Given the description of an element on the screen output the (x, y) to click on. 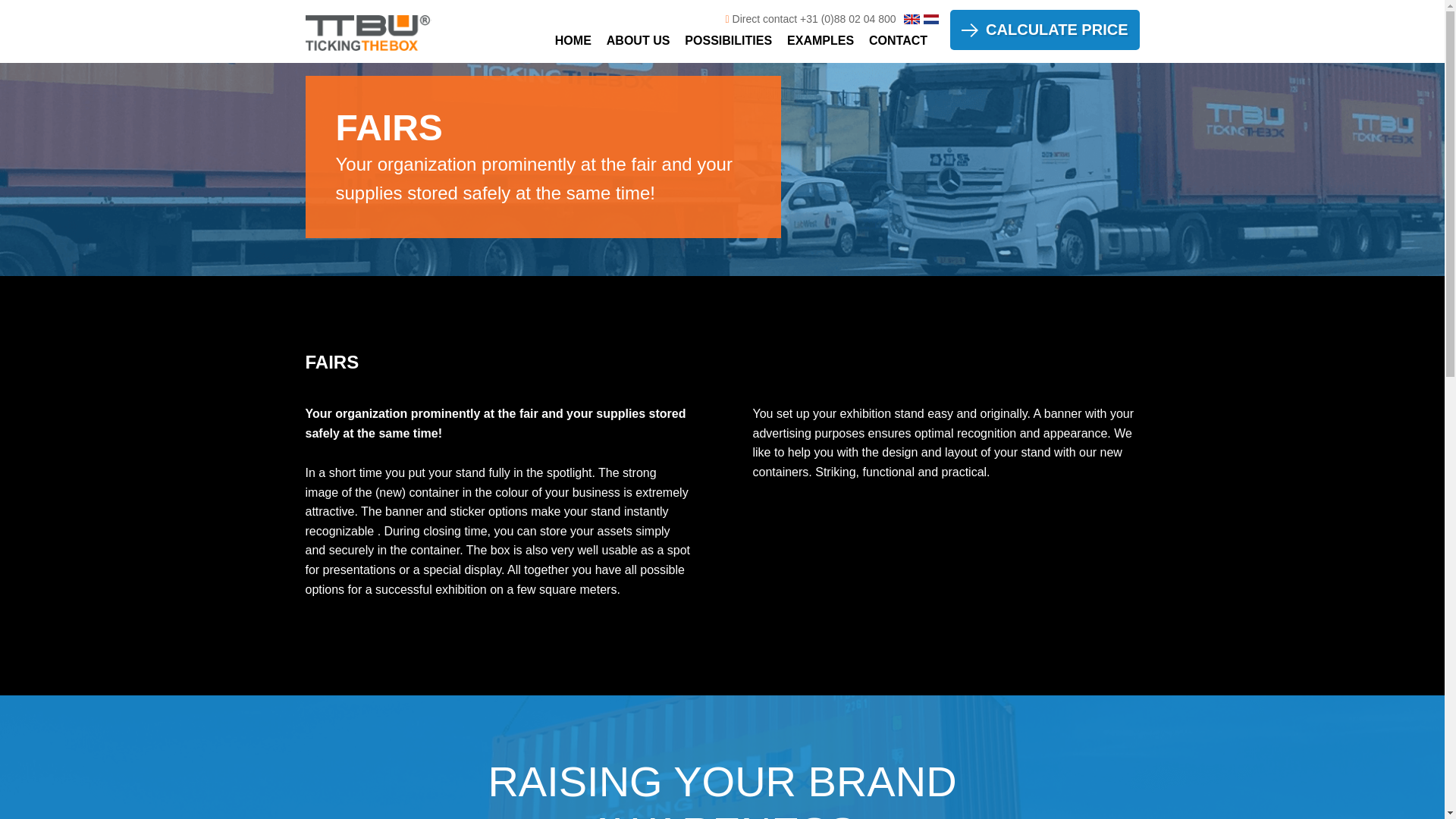
CALCULATE PRICE (1044, 29)
Nederlands flag (931, 19)
English flag (912, 19)
POSSIBILITIES (727, 40)
EXAMPLES (820, 40)
ABOUT US (638, 40)
Ticking the Box (367, 35)
CONTACT (898, 40)
HOME (572, 40)
